Given the description of an element on the screen output the (x, y) to click on. 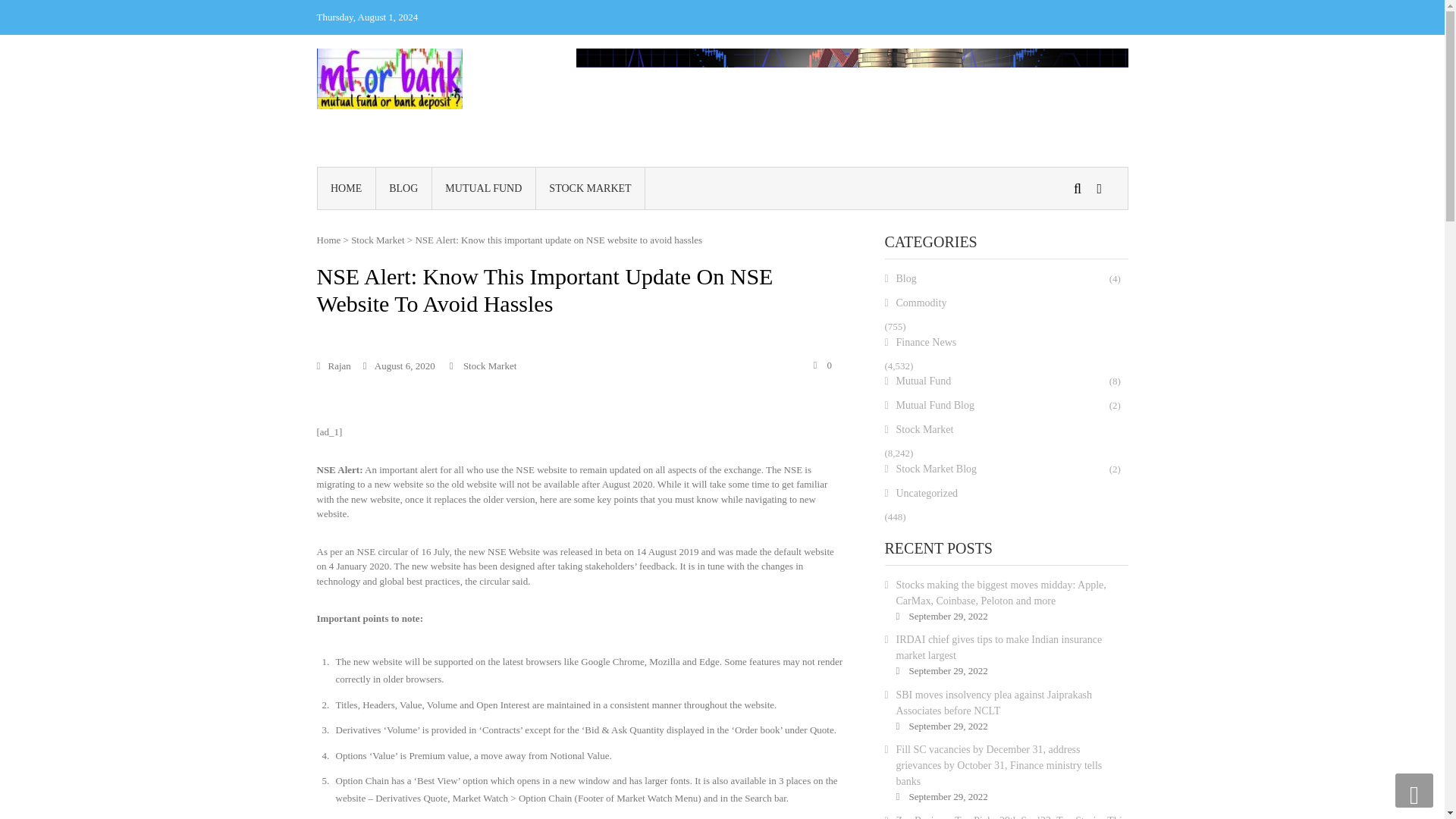
MUTUAL FUND (483, 188)
0 (821, 365)
STOCK MARKET (590, 188)
BLOG (403, 188)
Search (936, 295)
HOME (346, 188)
Home (328, 239)
August 6, 2020 (398, 365)
MF OR BANK (494, 85)
